Given the description of an element on the screen output the (x, y) to click on. 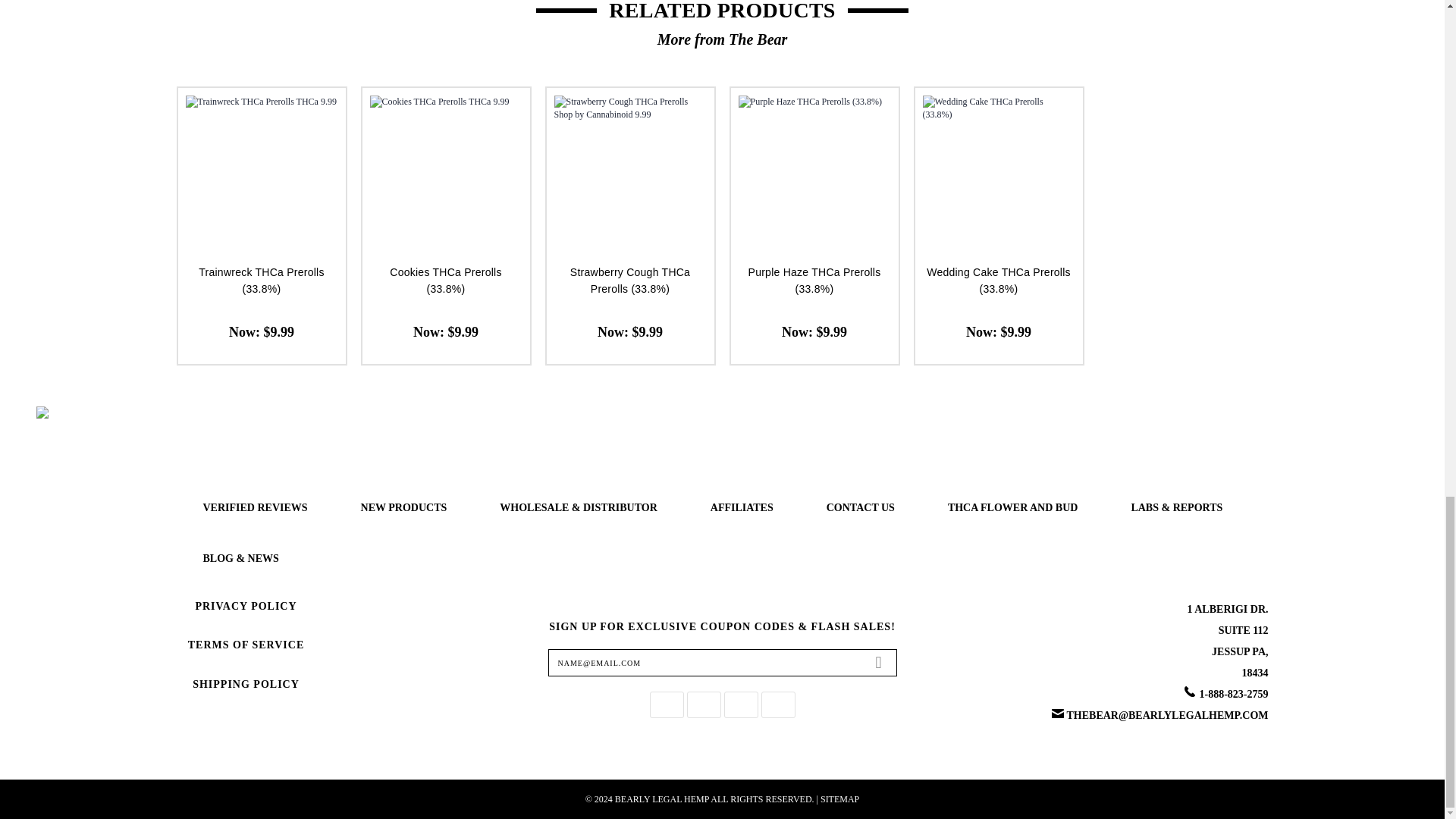
Cookies THCa Prerolls THCa 9.99 (445, 171)
Trainwreck THCa Prerolls THCa 9.99 (260, 171)
